Given the description of an element on the screen output the (x, y) to click on. 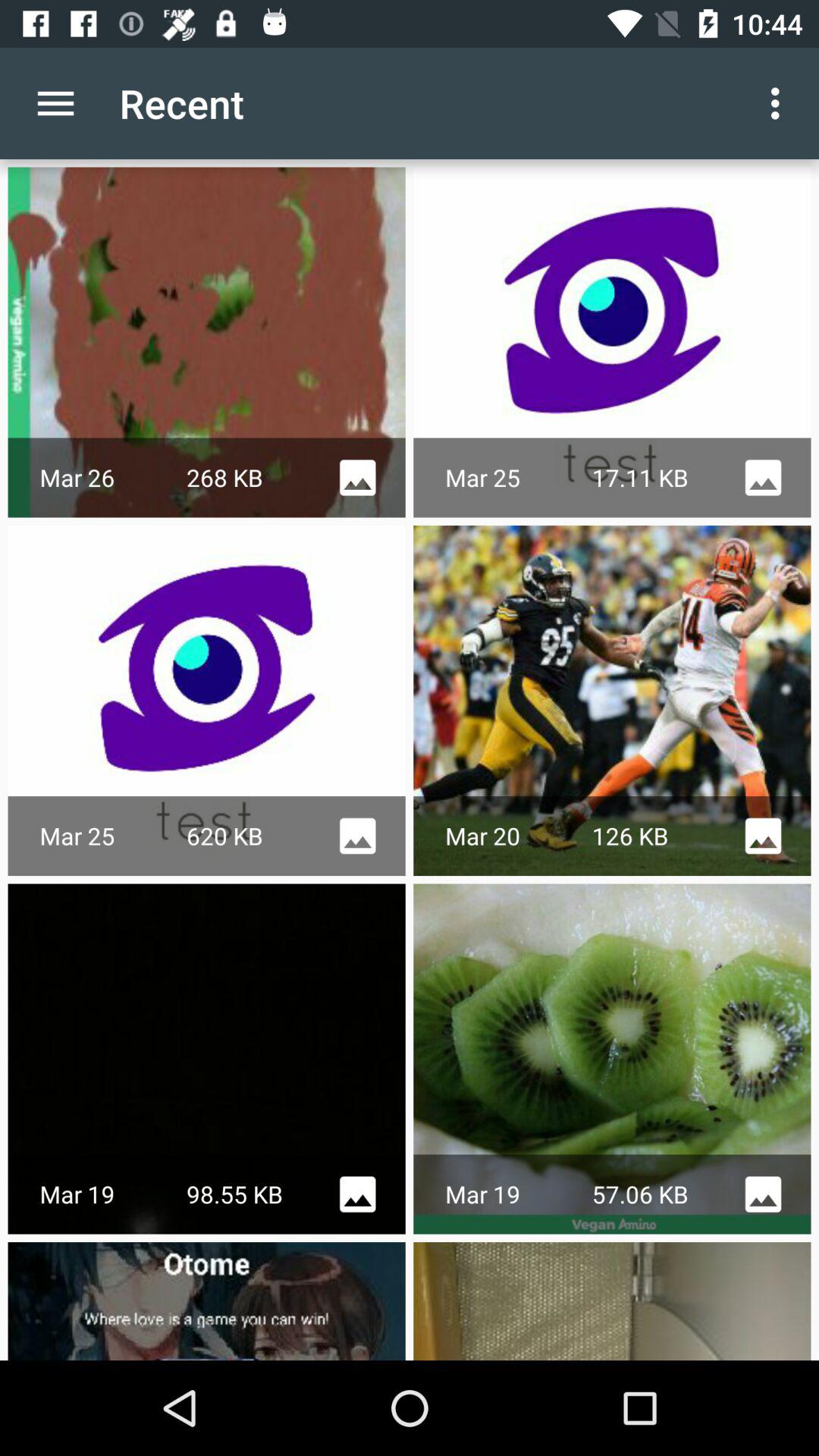
turn on the icon next to recent app (55, 103)
